Given the description of an element on the screen output the (x, y) to click on. 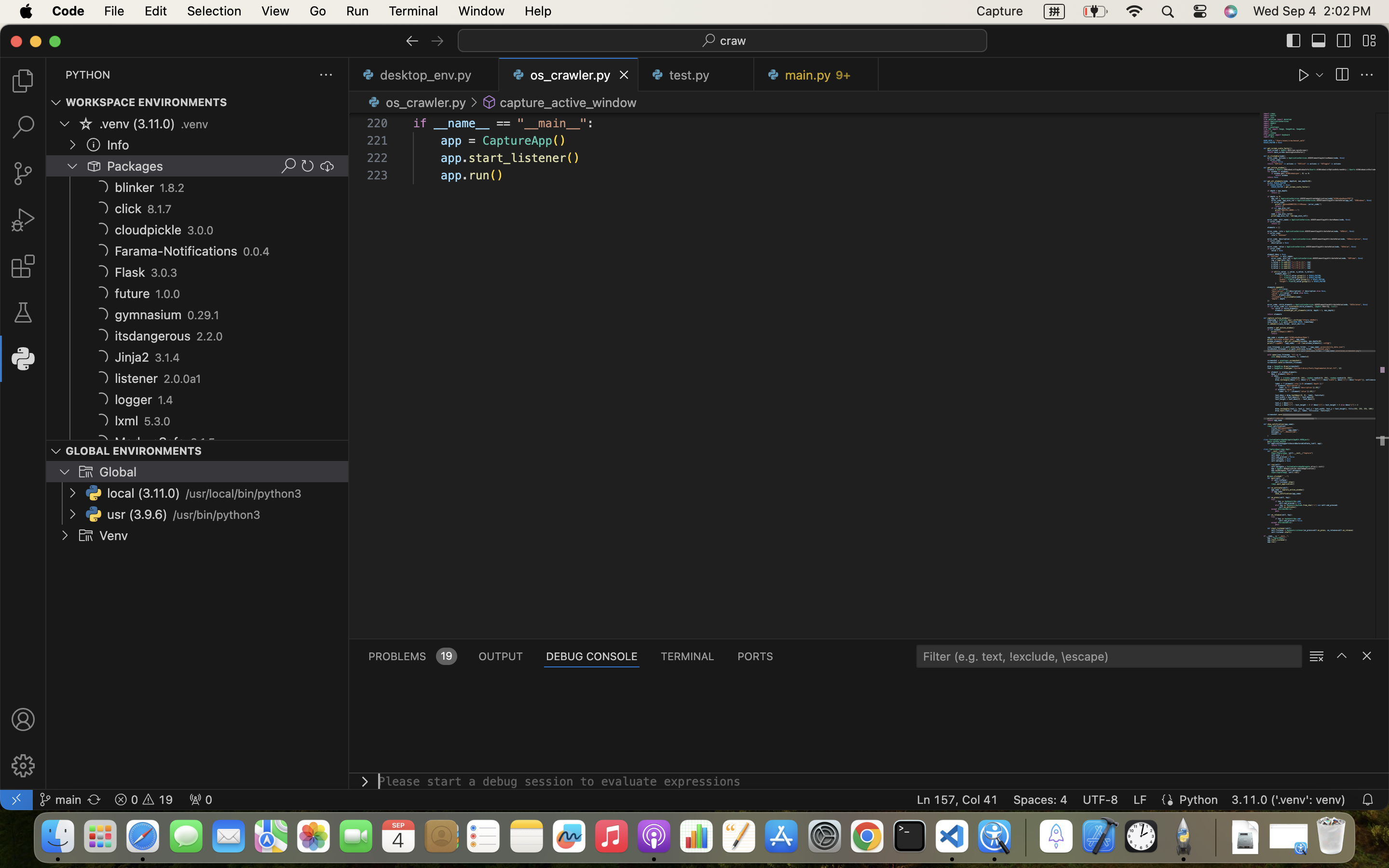
listener Element type: AXStaticText (136, 378)
19  0  Element type: AXButton (143, 799)
1.0.0 Element type: AXStaticText (167, 293)
2.2.0 Element type: AXStaticText (208, 336)
0 TERMINAL Element type: AXRadioButton (687, 655)
